Given the description of an element on the screen output the (x, y) to click on. 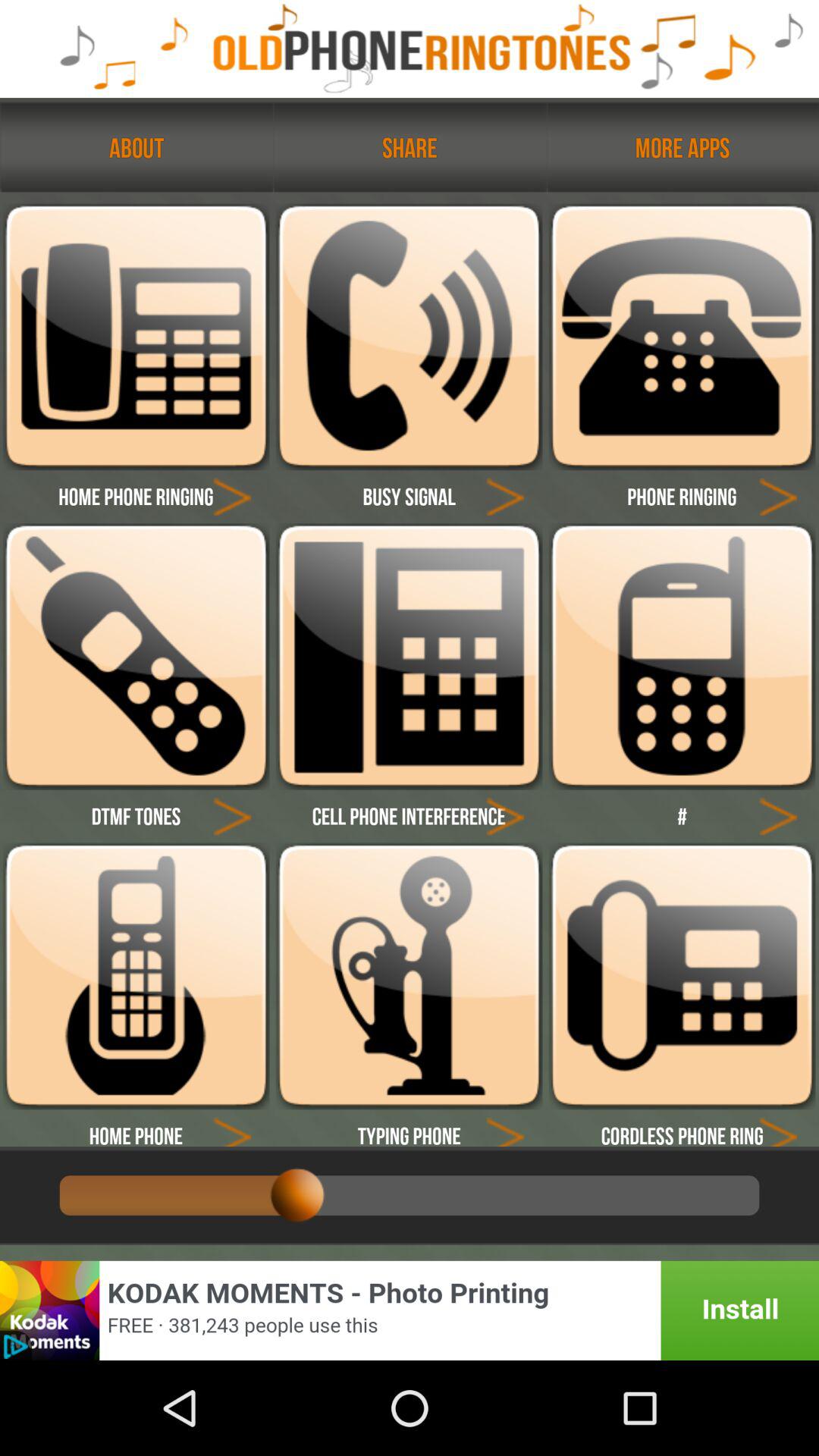
ringtone selection (135, 656)
